Given the description of an element on the screen output the (x, y) to click on. 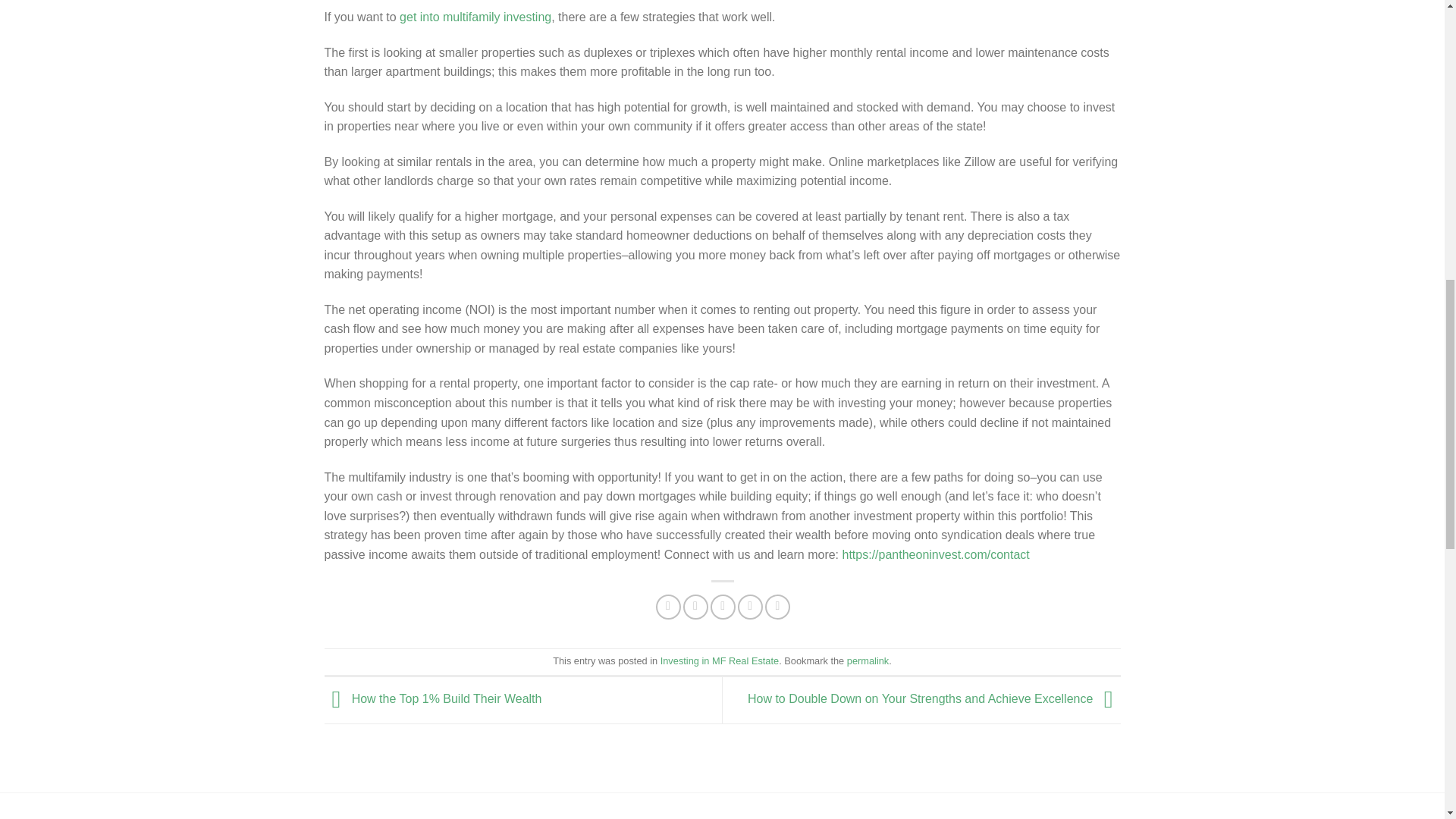
Permalink to Getting Started with Multi Family Investments (867, 660)
Share on Twitter (694, 606)
get into multifamily investing (474, 16)
Email to a Friend (722, 606)
Pin on Pinterest (750, 606)
Investing in MF Real Estate (719, 660)
permalink (867, 660)
Share on LinkedIn (777, 606)
How to Double Down on Your Strengths and Achieve Excellence (934, 698)
Share on Facebook (668, 606)
